Given the description of an element on the screen output the (x, y) to click on. 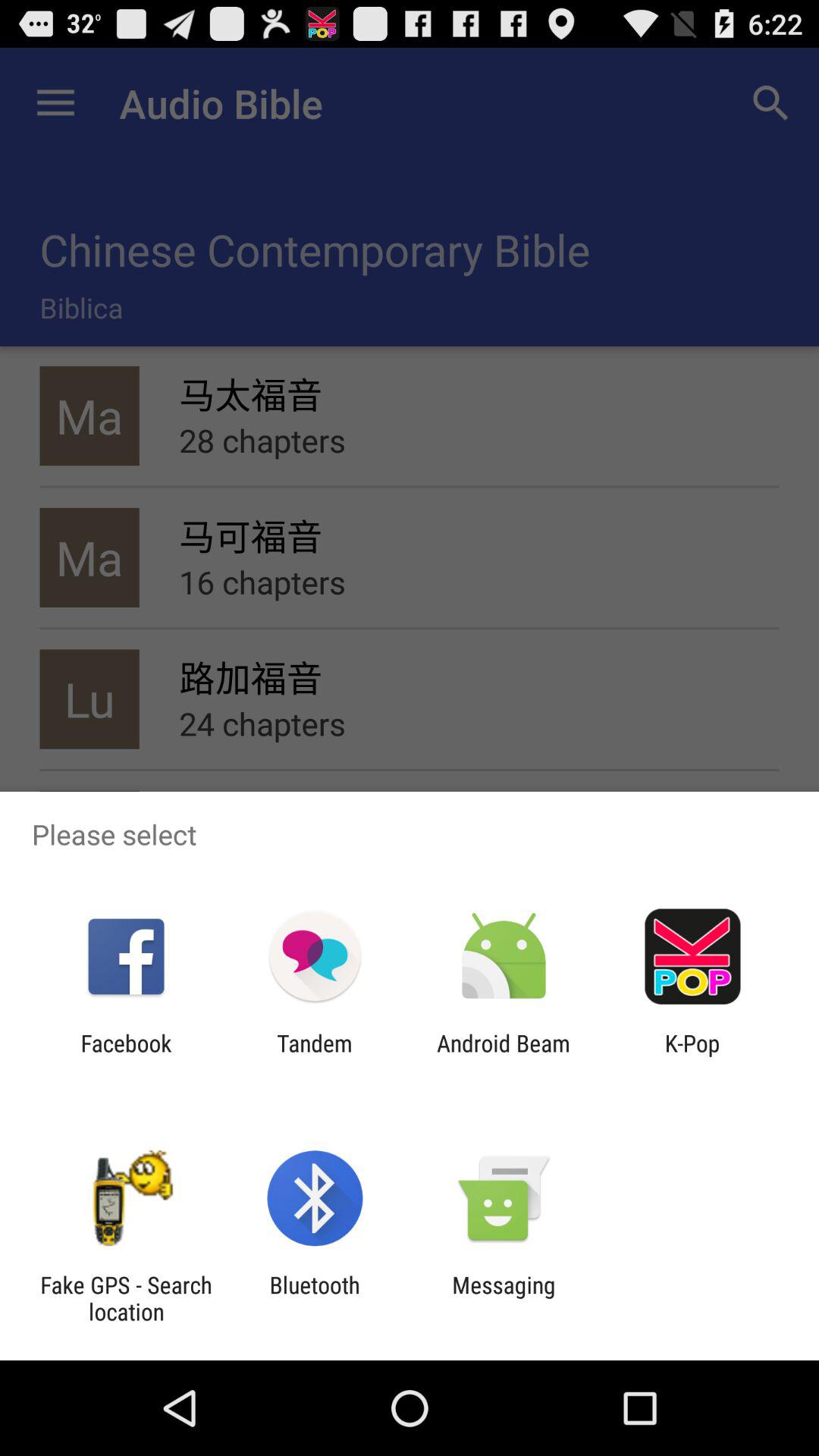
press app to the left of the messaging item (314, 1298)
